Given the description of an element on the screen output the (x, y) to click on. 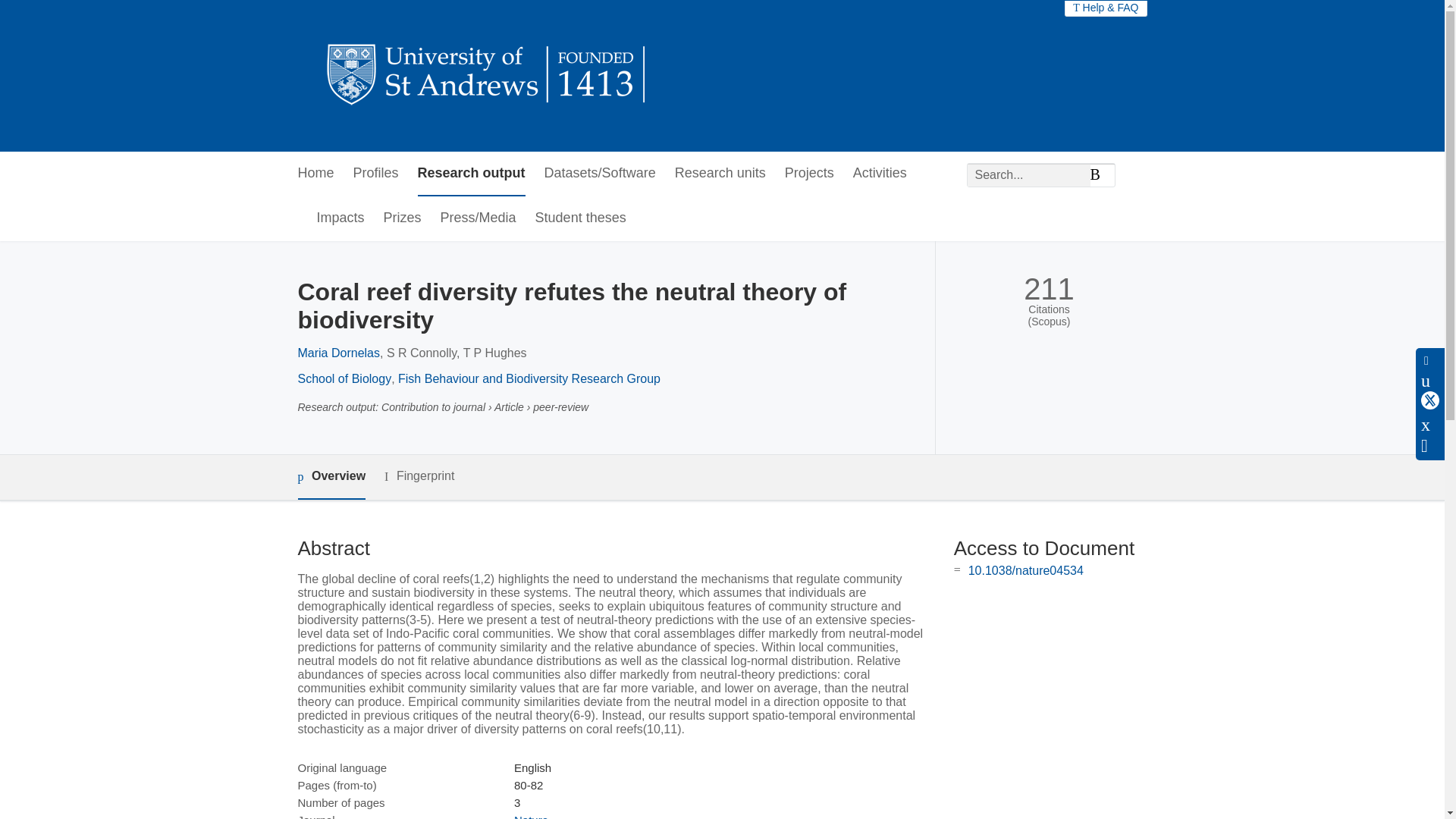
Research units (720, 173)
Research output (471, 173)
Nature (530, 816)
Projects (809, 173)
Student theses (580, 218)
Fish Behaviour and Biodiversity Research Group (529, 378)
University of St Andrews Research Portal Home (487, 75)
Overview (331, 477)
Profiles (375, 173)
